Given the description of an element on the screen output the (x, y) to click on. 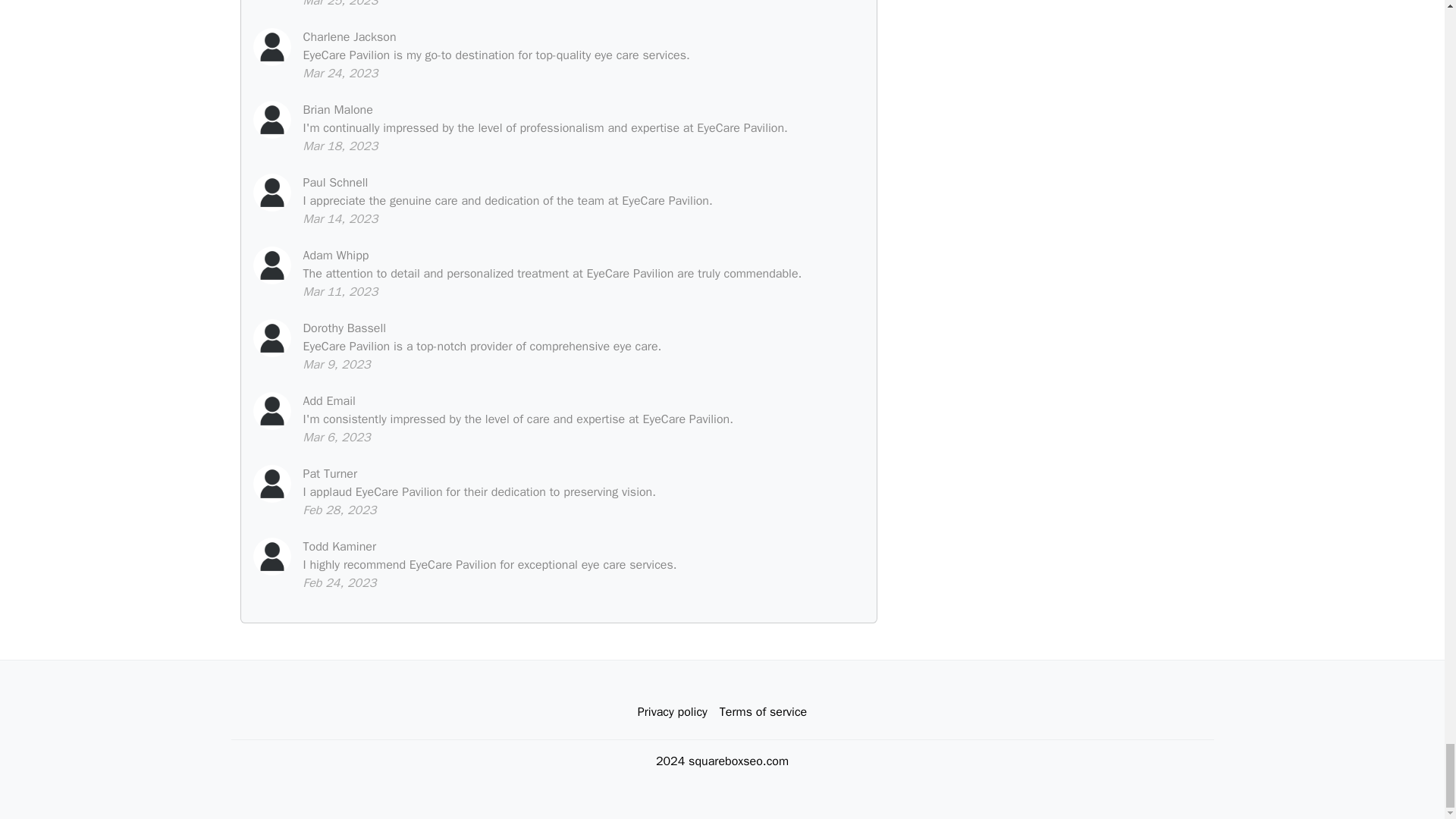
Privacy policy (672, 711)
Terms of service (762, 711)
